Given the description of an element on the screen output the (x, y) to click on. 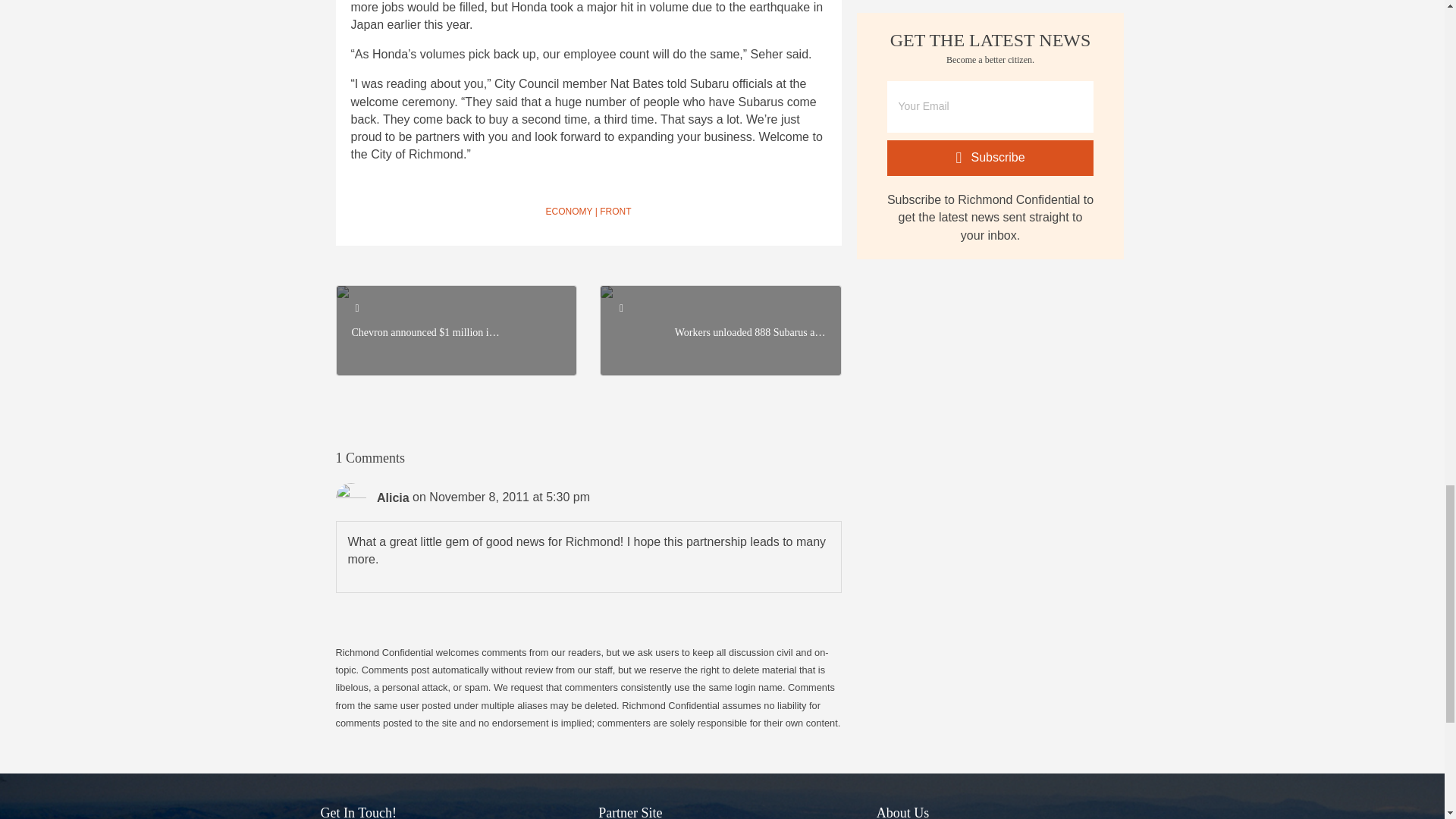
ECONOMY (569, 211)
Subscribe (990, 158)
FRONT (614, 211)
